Given the description of an element on the screen output the (x, y) to click on. 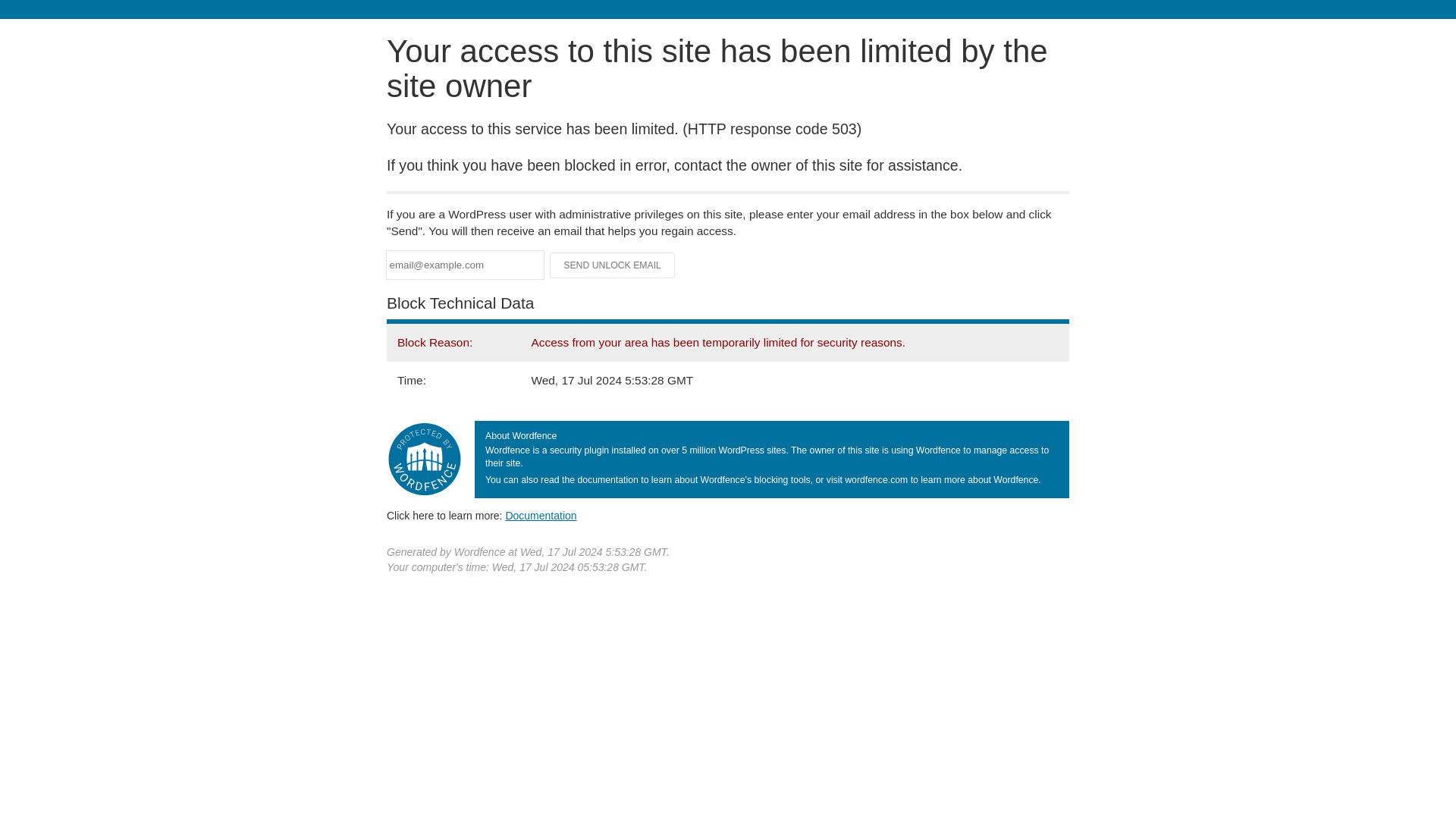
Send Unlock Email (612, 265)
Documentation (540, 515)
Send Unlock Email (612, 265)
